Given the description of an element on the screen output the (x, y) to click on. 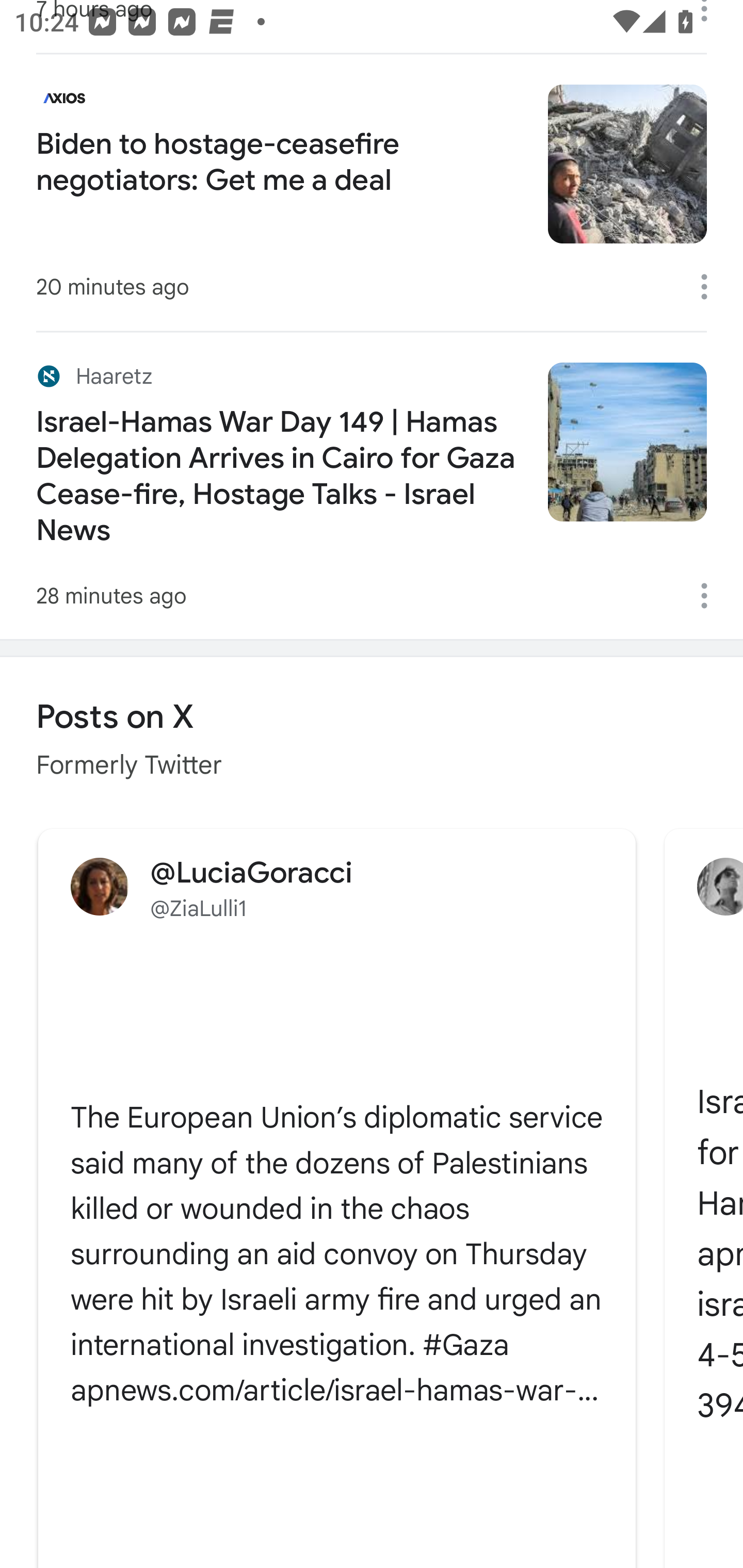
More options (711, 286)
More options (711, 595)
